Given the description of an element on the screen output the (x, y) to click on. 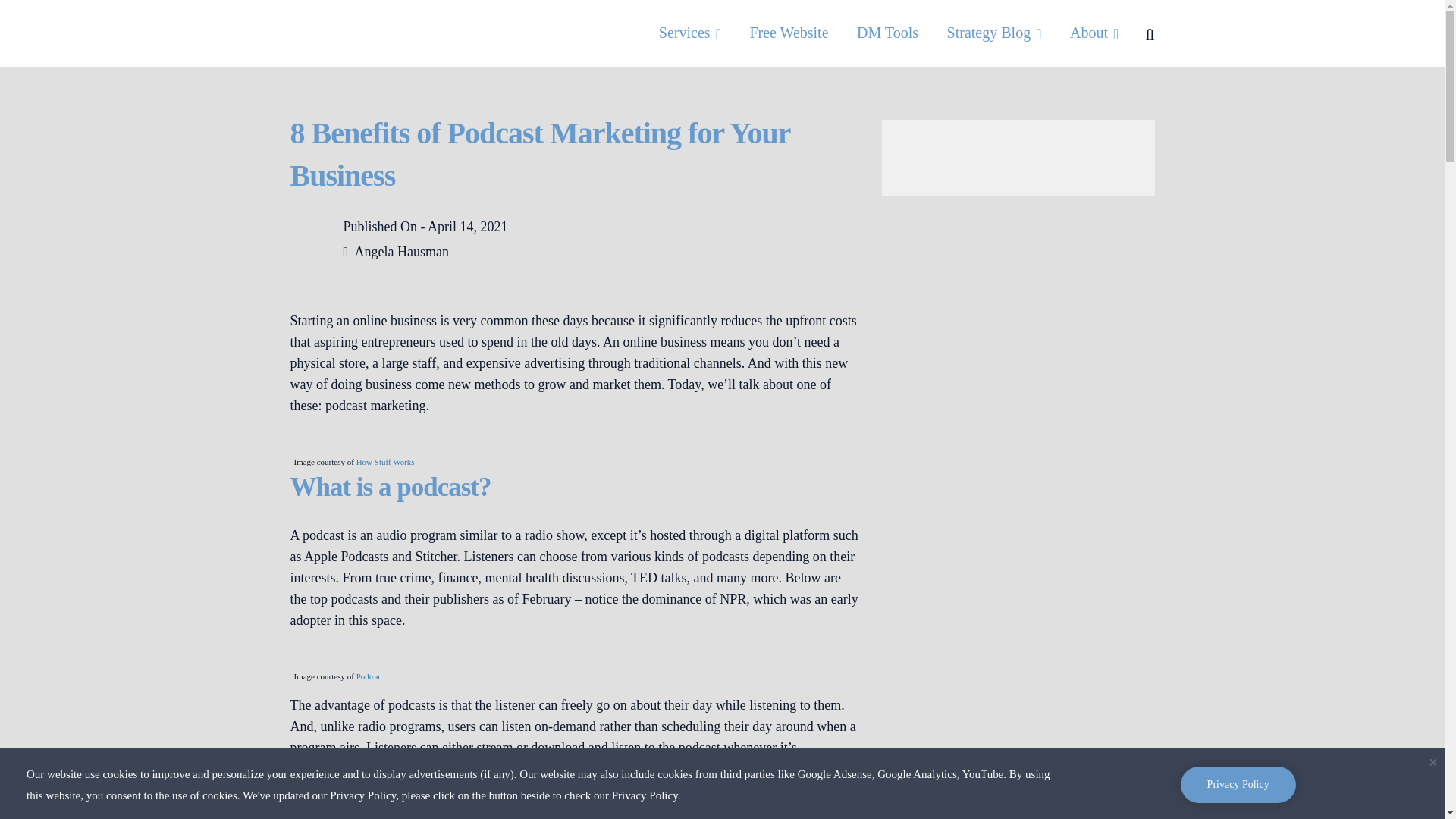
Strategy Blog (994, 33)
Privacy Policy (1237, 784)
DM Tools (887, 33)
Free Website (788, 33)
DM Tools (887, 33)
Services (689, 33)
